Given the description of an element on the screen output the (x, y) to click on. 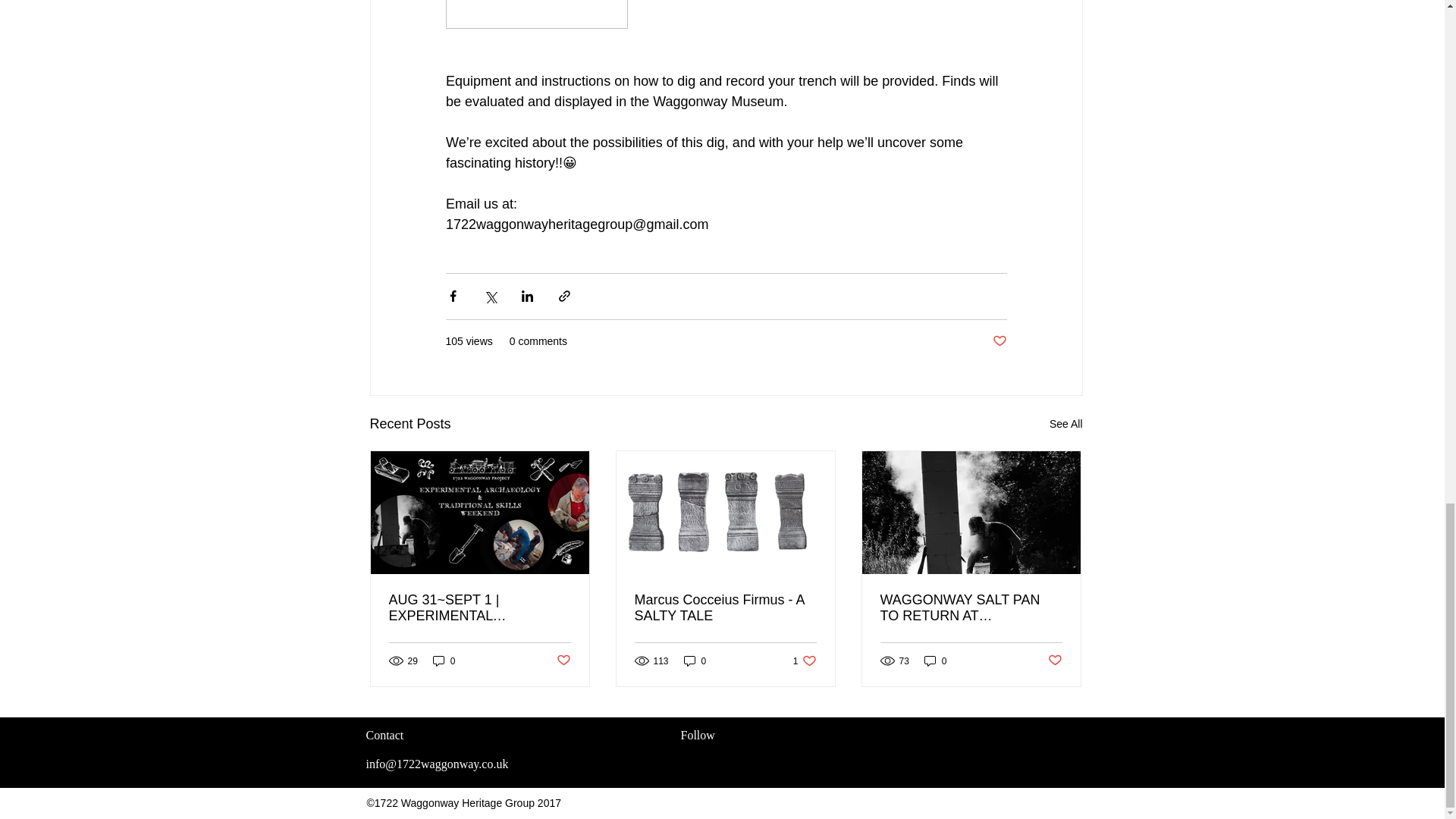
0 (443, 660)
0 (936, 660)
0 (694, 660)
Marcus Cocceius Firmus - A SALTY TALE (724, 608)
Post not marked as liked (1055, 660)
See All (1066, 423)
Post not marked as liked (563, 660)
Post not marked as liked (998, 341)
